Given the description of an element on the screen output the (x, y) to click on. 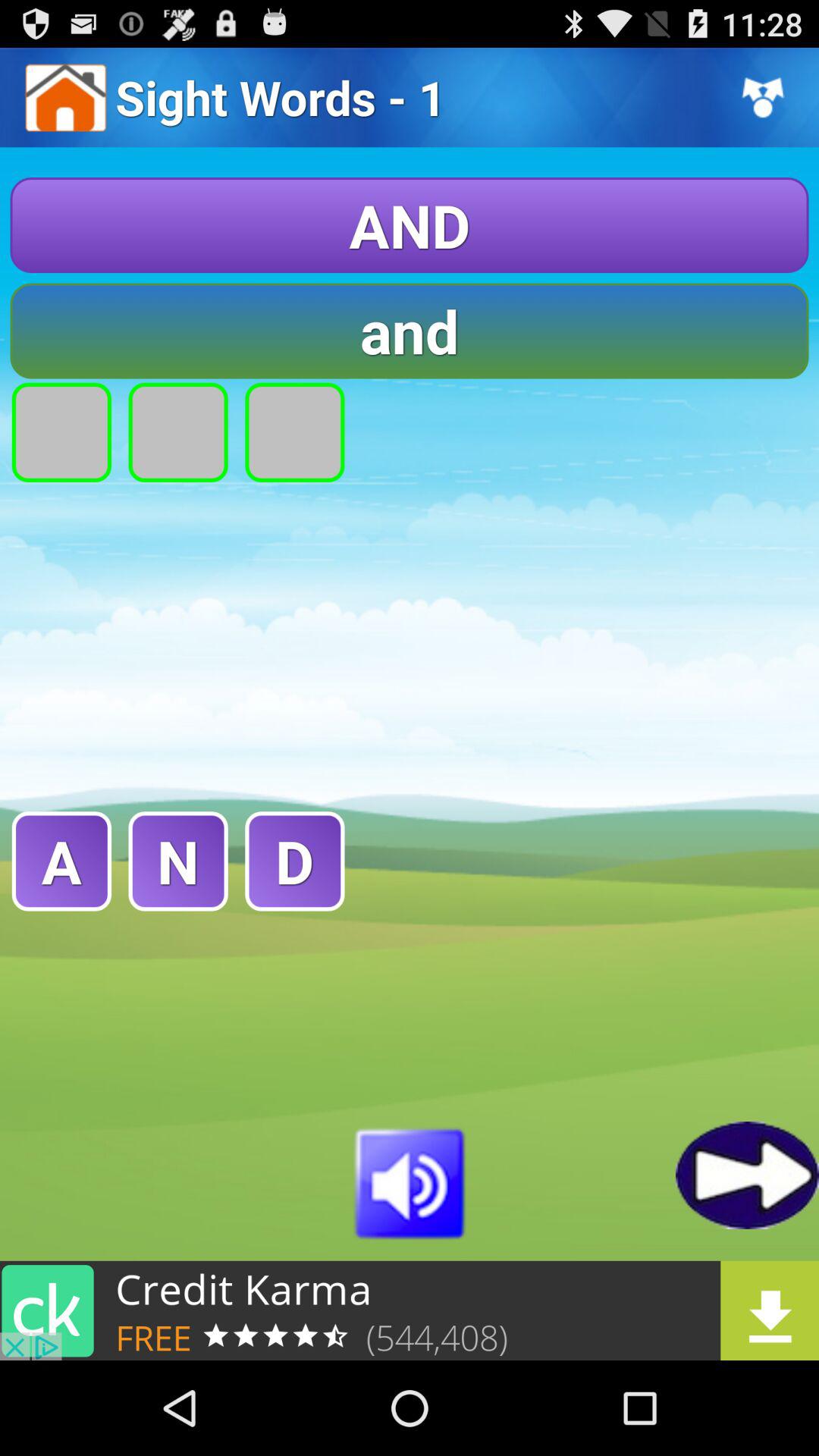
click on credit karma advertisement (409, 1310)
